Given the description of an element on the screen output the (x, y) to click on. 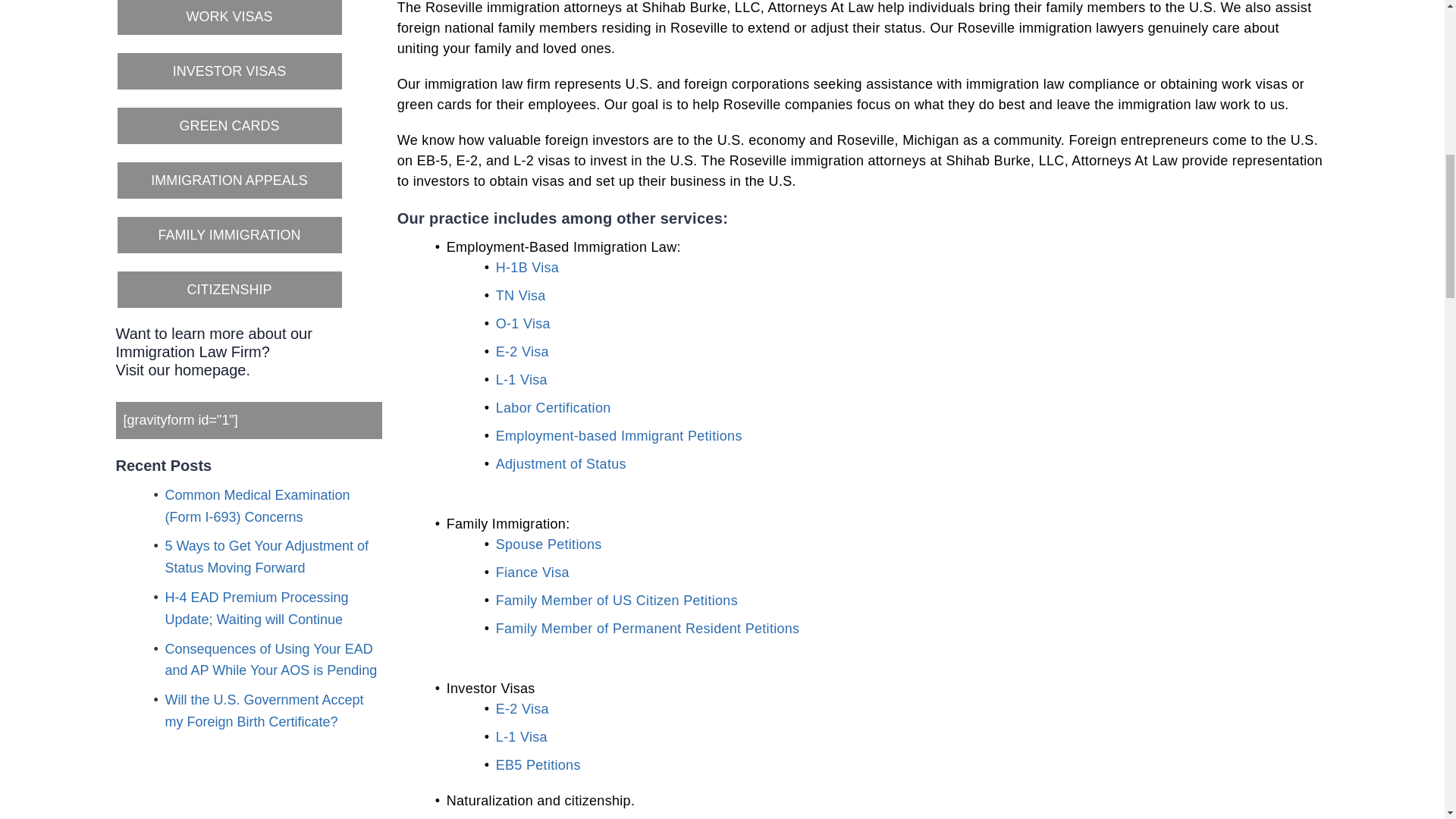
IMMIGRATION APPEALS (228, 179)
H-1B Visa (527, 267)
INVESTOR VISAS (228, 70)
O-1 Visa (523, 323)
FAMILY IMMIGRATION (228, 234)
TN Visa (521, 295)
L-1 Visa (521, 379)
CITIZENSHIP (228, 289)
WORK VISAS (228, 18)
E-2 Visa (522, 351)
GREEN CARDS (228, 125)
5 Ways to Get Your Adjustment of Status Moving Forward (266, 556)
